Given the description of an element on the screen output the (x, y) to click on. 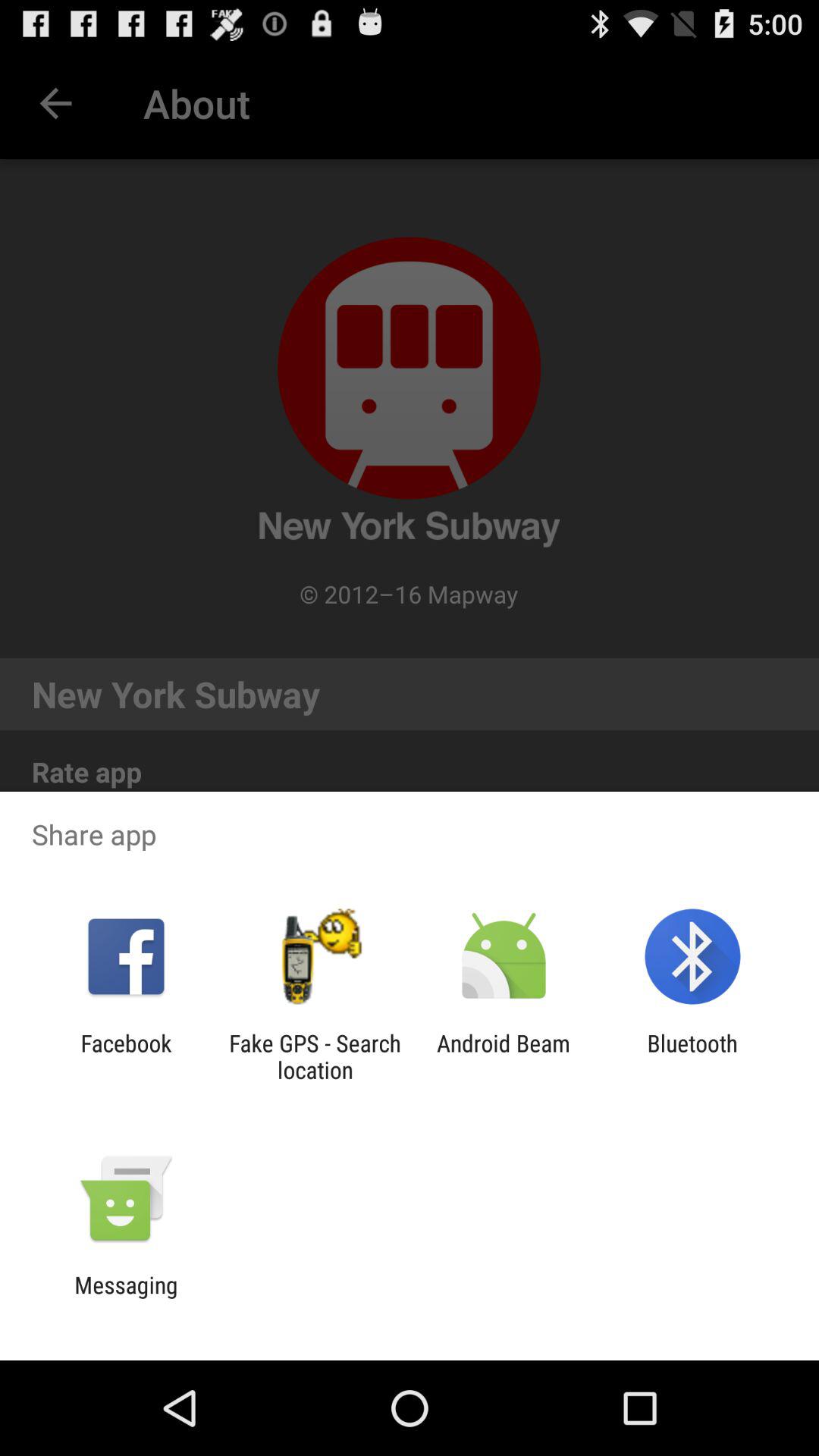
open app to the right of android beam app (692, 1056)
